Given the description of an element on the screen output the (x, y) to click on. 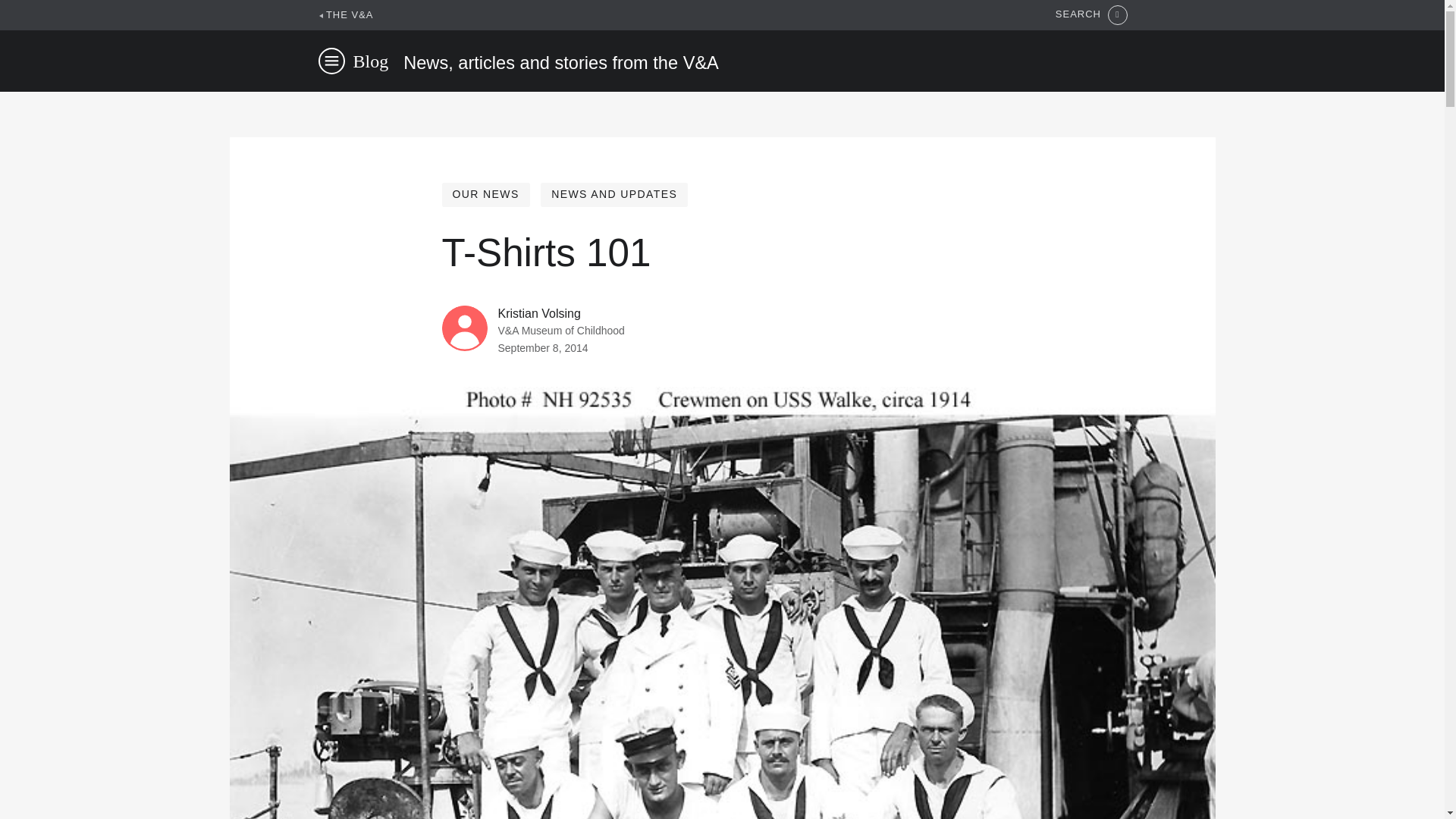
NEWS AND UPDATES (613, 194)
Posts by Kristian Volsing (538, 313)
SEARCH (1090, 15)
Kristian Volsing (538, 313)
OUR NEWS (485, 194)
Blog (370, 60)
